Given the description of an element on the screen output the (x, y) to click on. 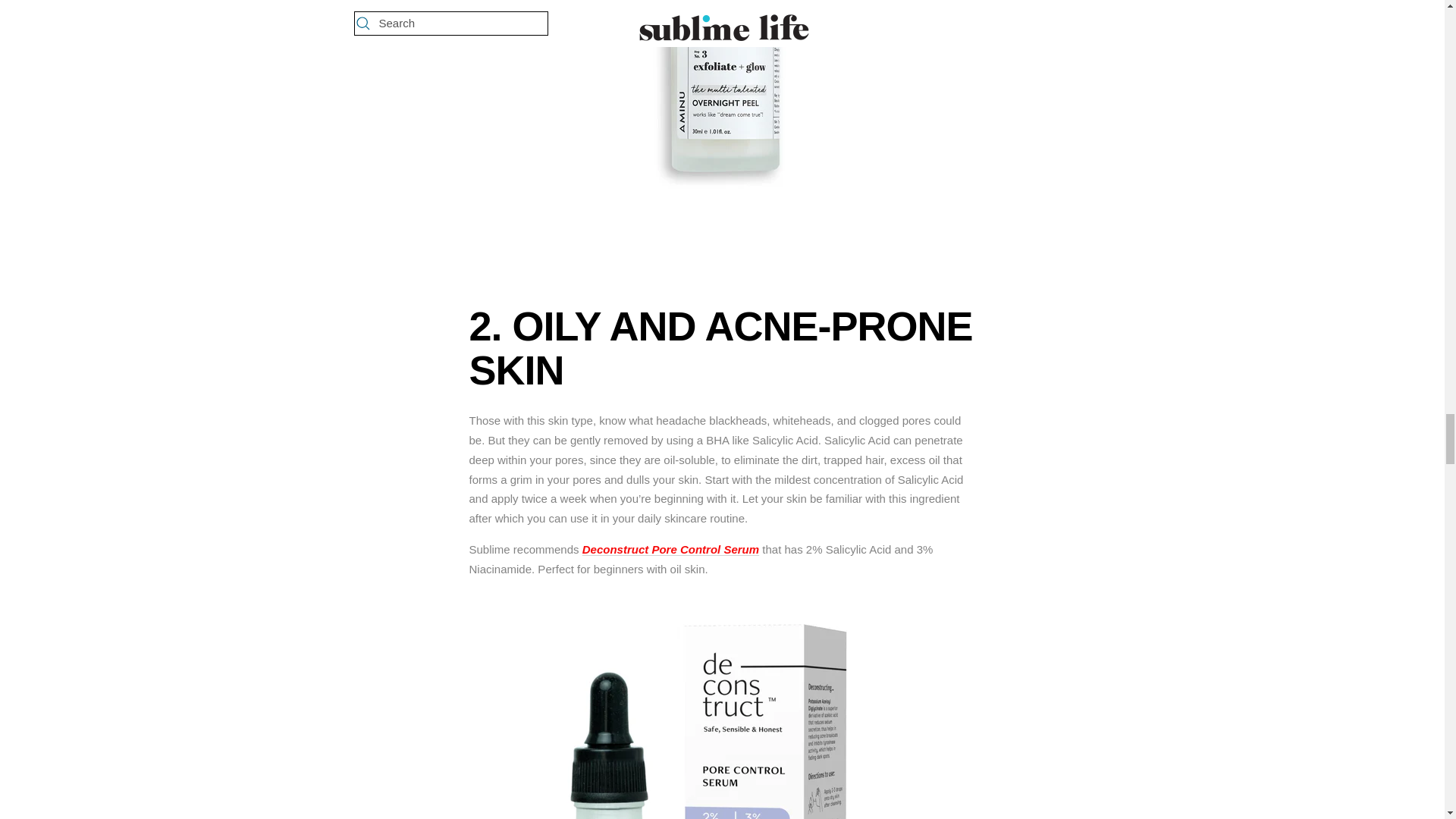
Deconstruct Pore Control Serum on www.sublimelife.in (722, 599)
Deconstruct Pore Control Serum (670, 549)
Deconstruct Pore Control Serum on www.sublimelife.in (670, 549)
